Given the description of an element on the screen output the (x, y) to click on. 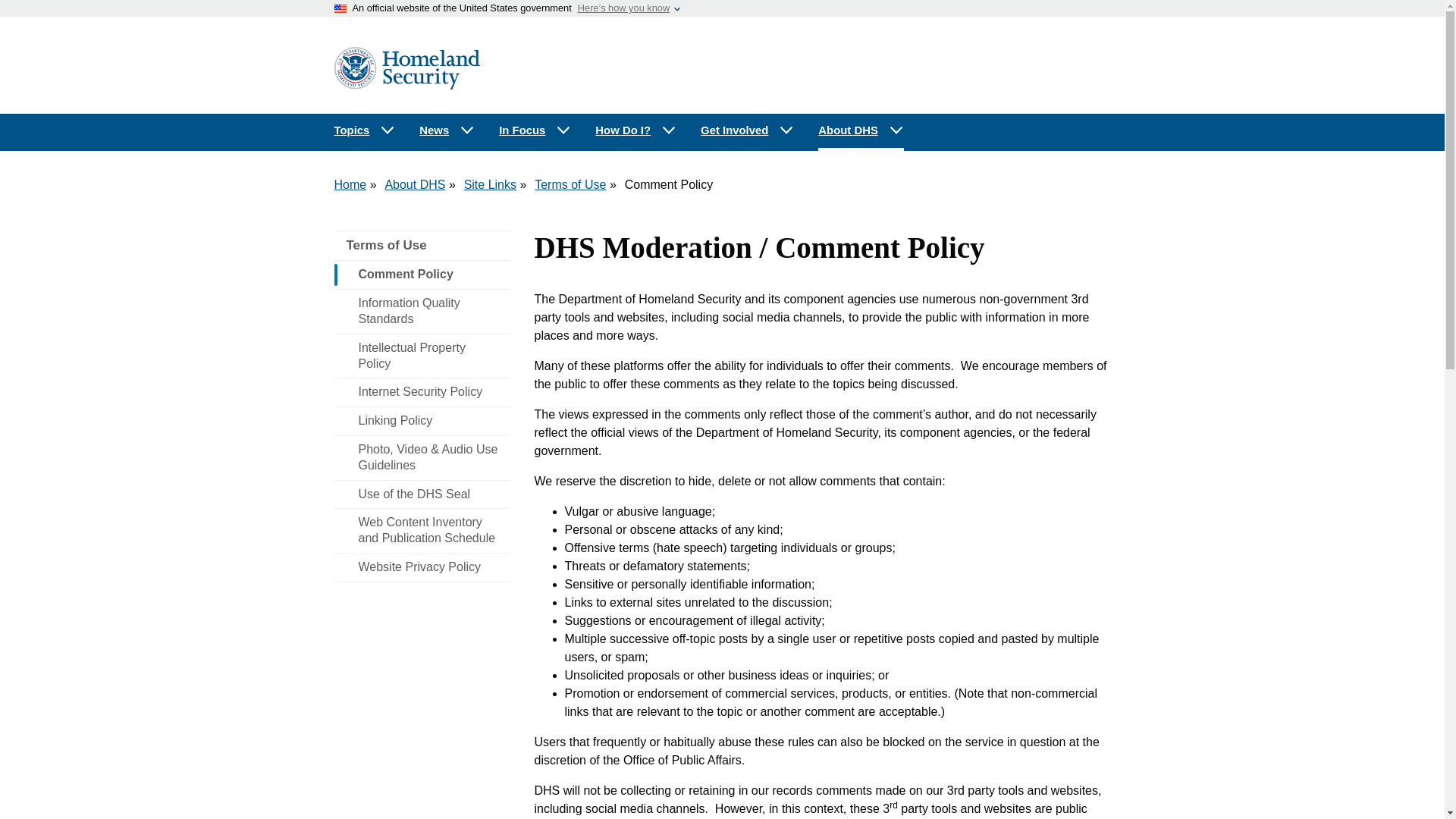
Information Quality Standards (421, 311)
Terms of Use (421, 245)
Web Content Inventory and Publication Schedule (421, 530)
Website Privacy Policy (421, 567)
Get Involved (747, 130)
Linking Policy (421, 420)
About DHS (414, 184)
Home (349, 184)
News (446, 130)
Intellectual Property Policy (421, 356)
